Given the description of an element on the screen output the (x, y) to click on. 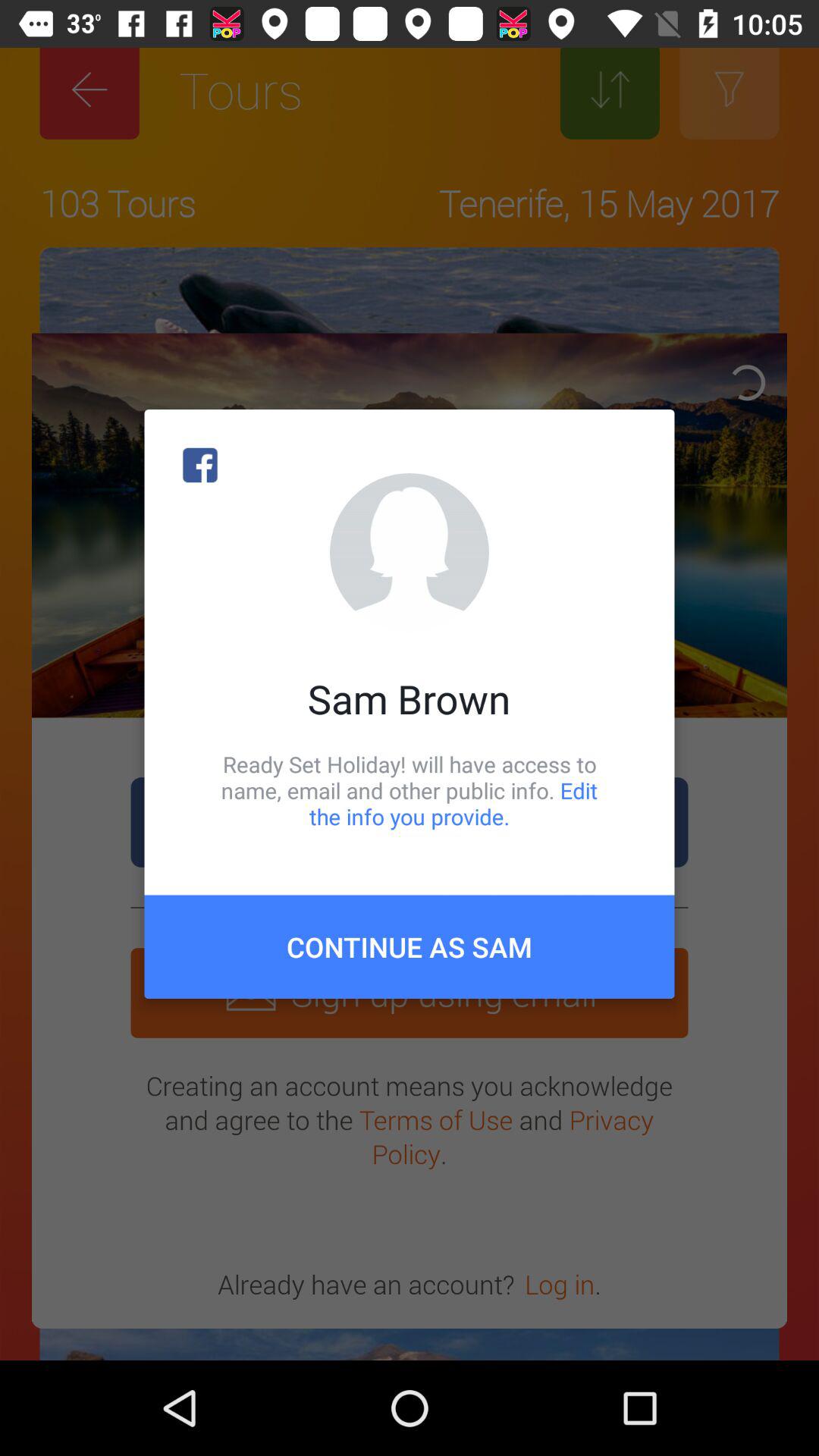
tap the item below the sam brown (409, 790)
